Given the description of an element on the screen output the (x, y) to click on. 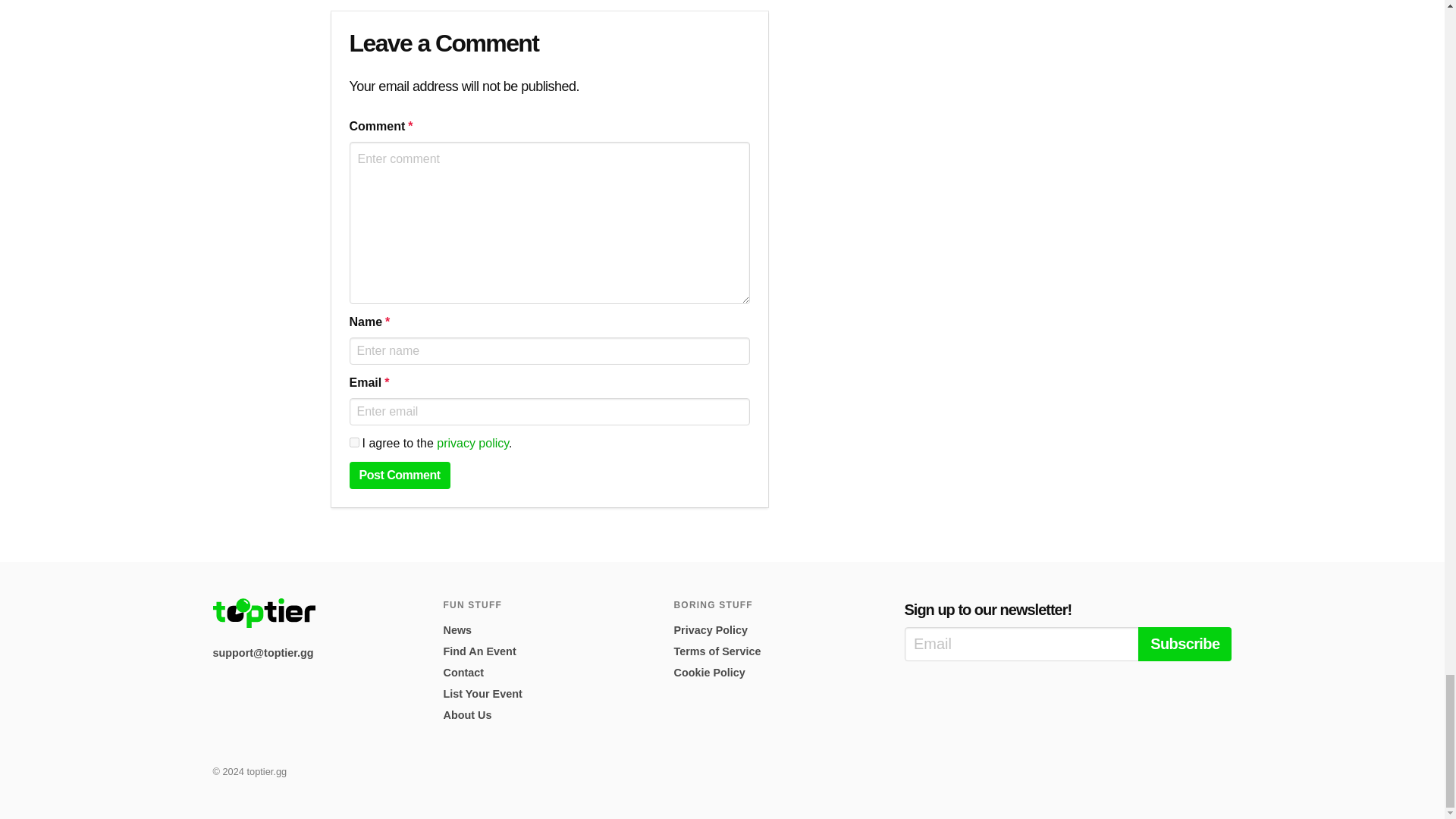
Post Comment (399, 474)
Subscribe (1184, 643)
yes (353, 442)
